Given the description of an element on the screen output the (x, y) to click on. 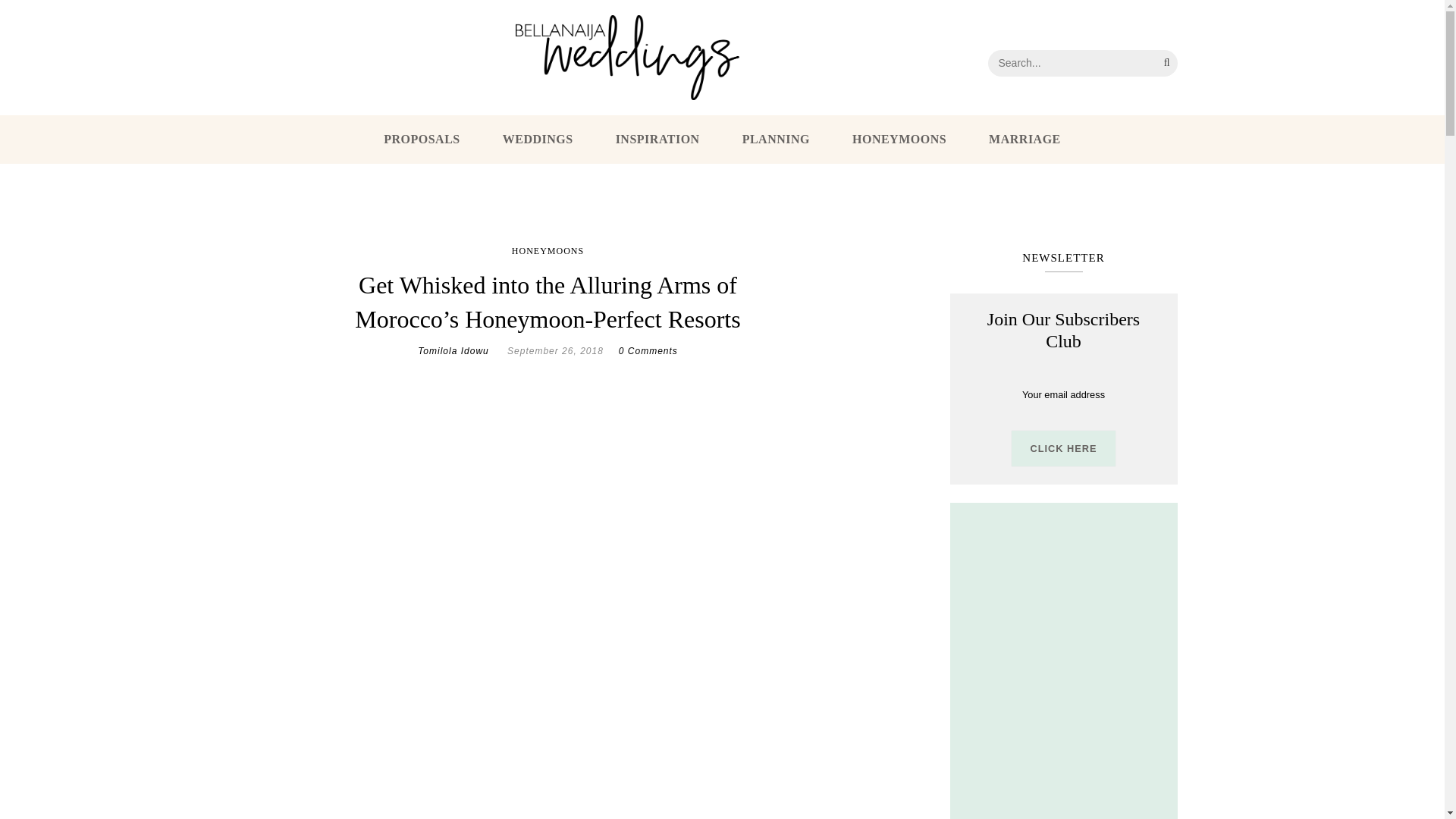
WEDDINGS (537, 139)
0 Comments (648, 350)
Tomilola Idowu (453, 350)
MARRIAGE (1024, 139)
Click Here (1063, 448)
HONEYMOONS (898, 139)
INSPIRATION (657, 139)
PLANNING (775, 139)
PROPOSALS (422, 139)
Posts by Tomilola Idowu (453, 350)
HONEYMOONS (547, 251)
